Given the description of an element on the screen output the (x, y) to click on. 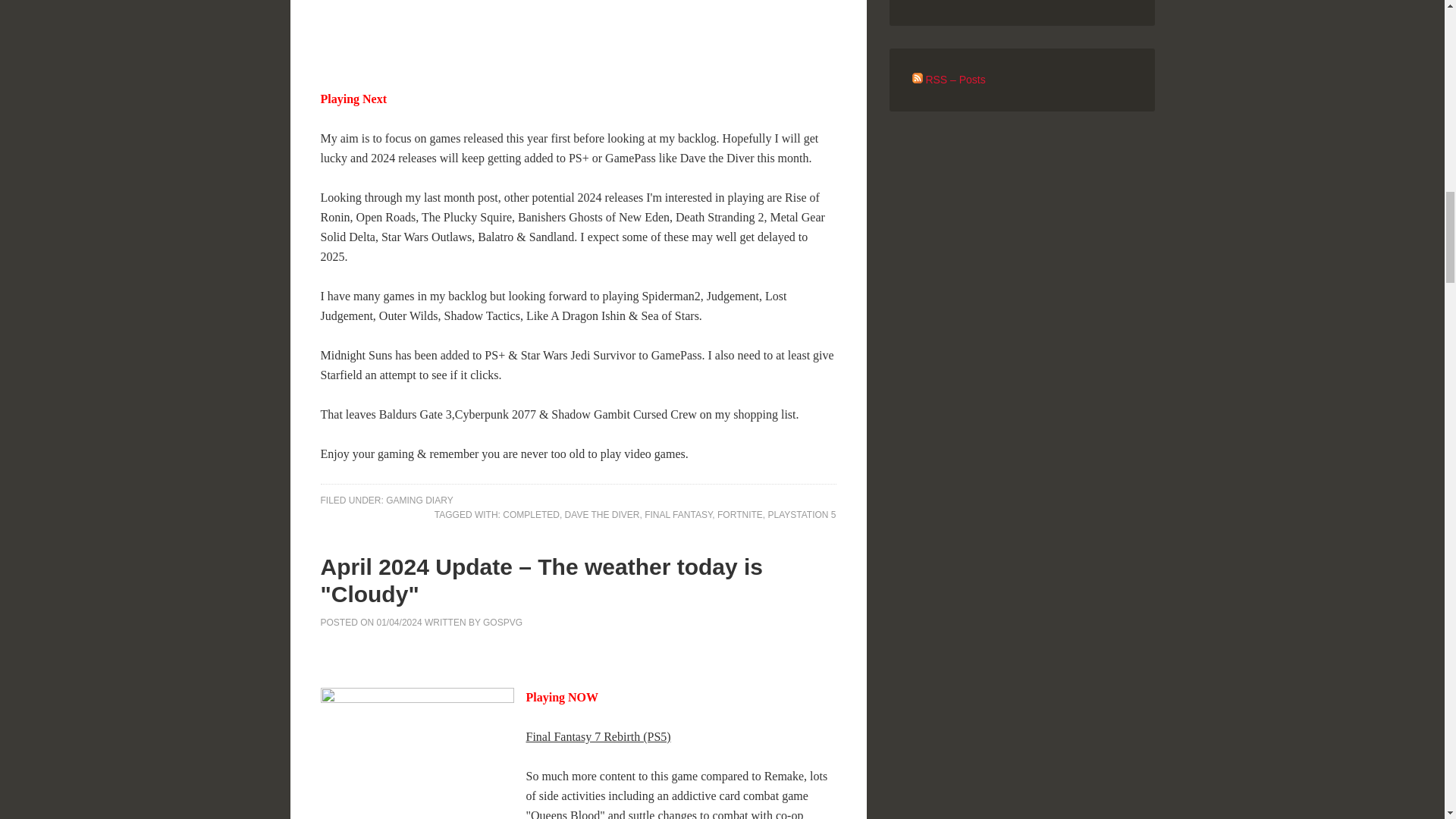
DAVE THE DIVER (602, 514)
YouTube video player (532, 31)
GAMING DIARY (418, 499)
COMPLETED (530, 514)
